Given the description of an element on the screen output the (x, y) to click on. 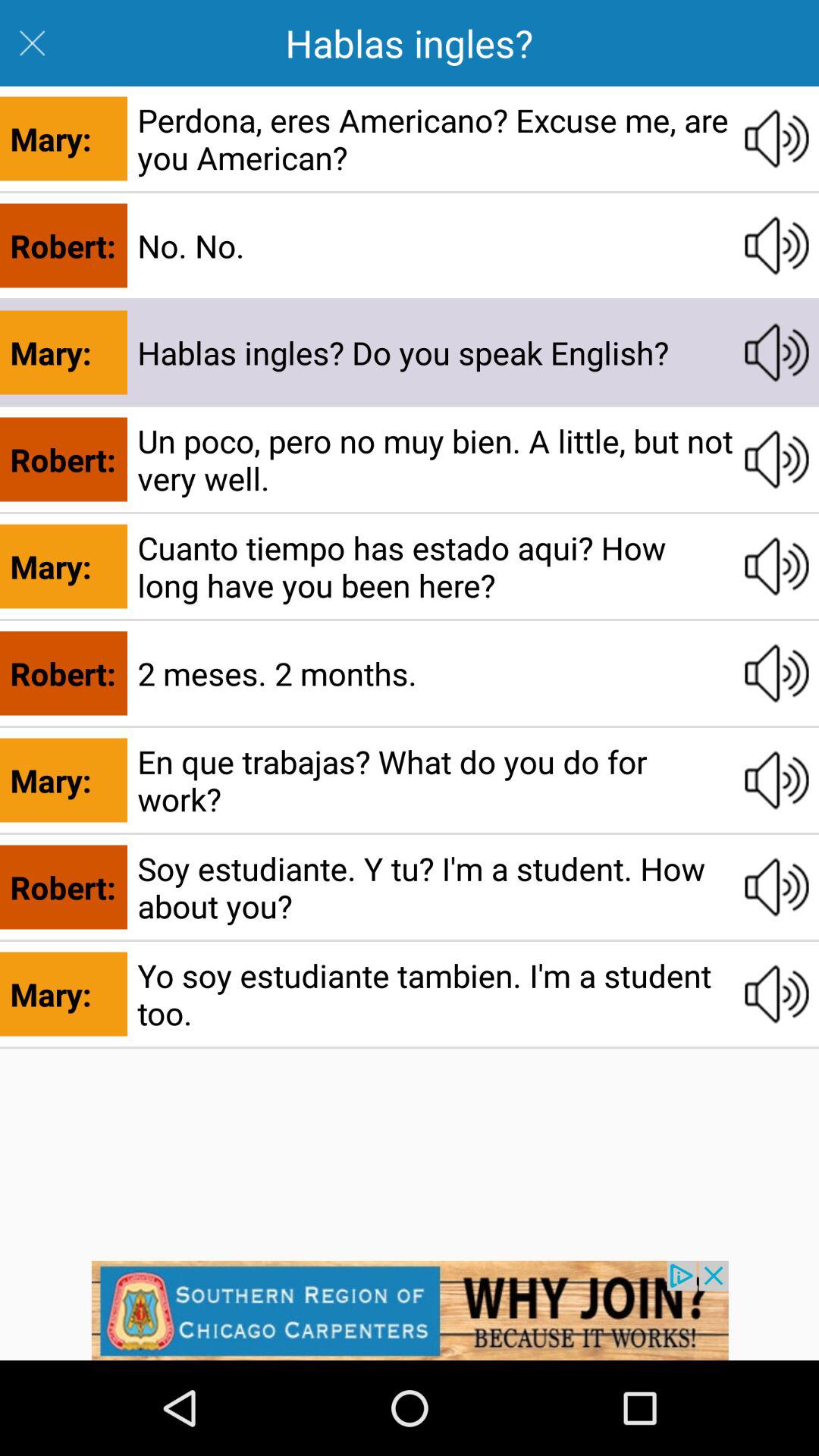
advertisement option (409, 1310)
